Given the description of an element on the screen output the (x, y) to click on. 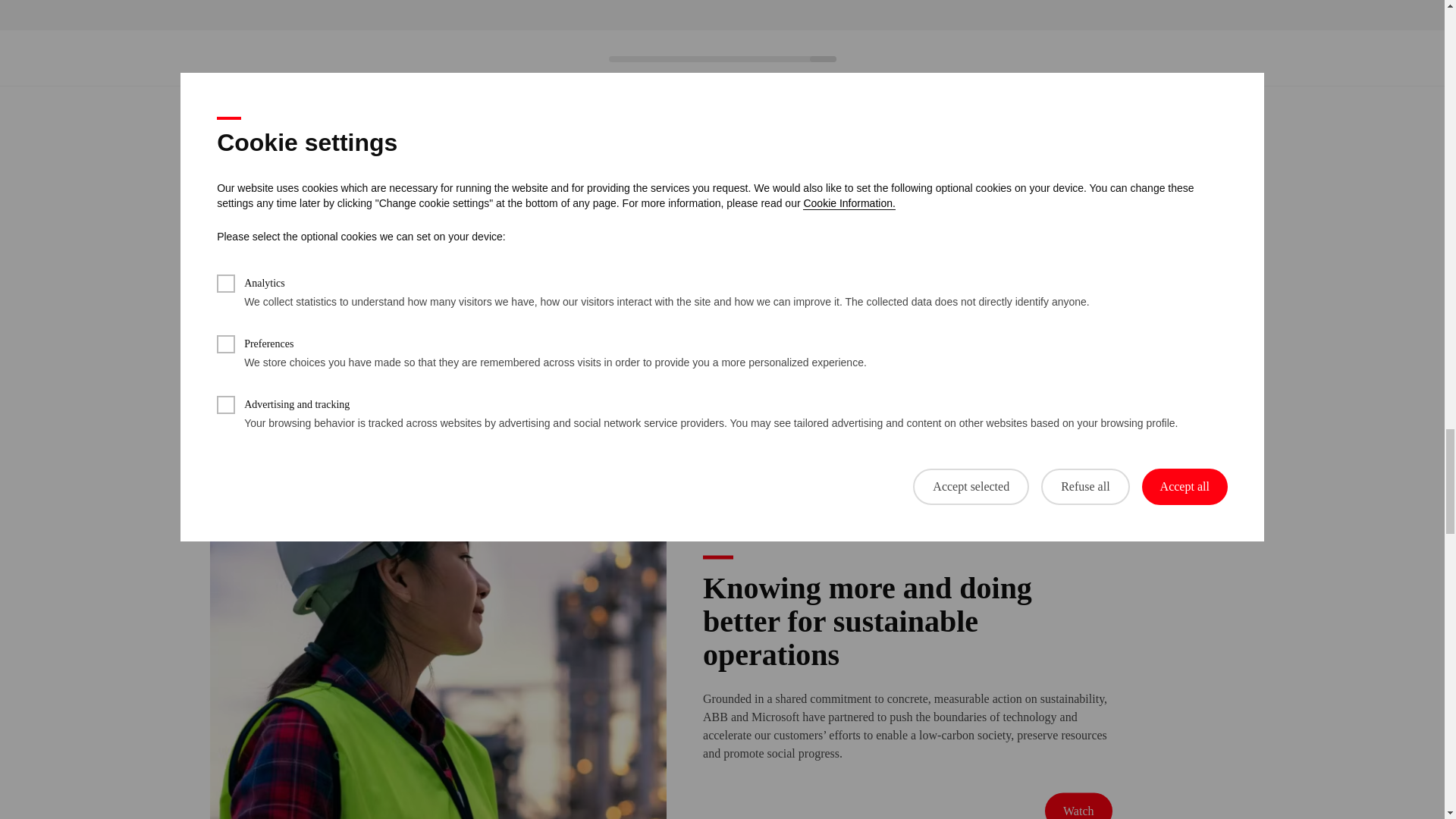
Read whitepaper (682, 77)
